Given the description of an element on the screen output the (x, y) to click on. 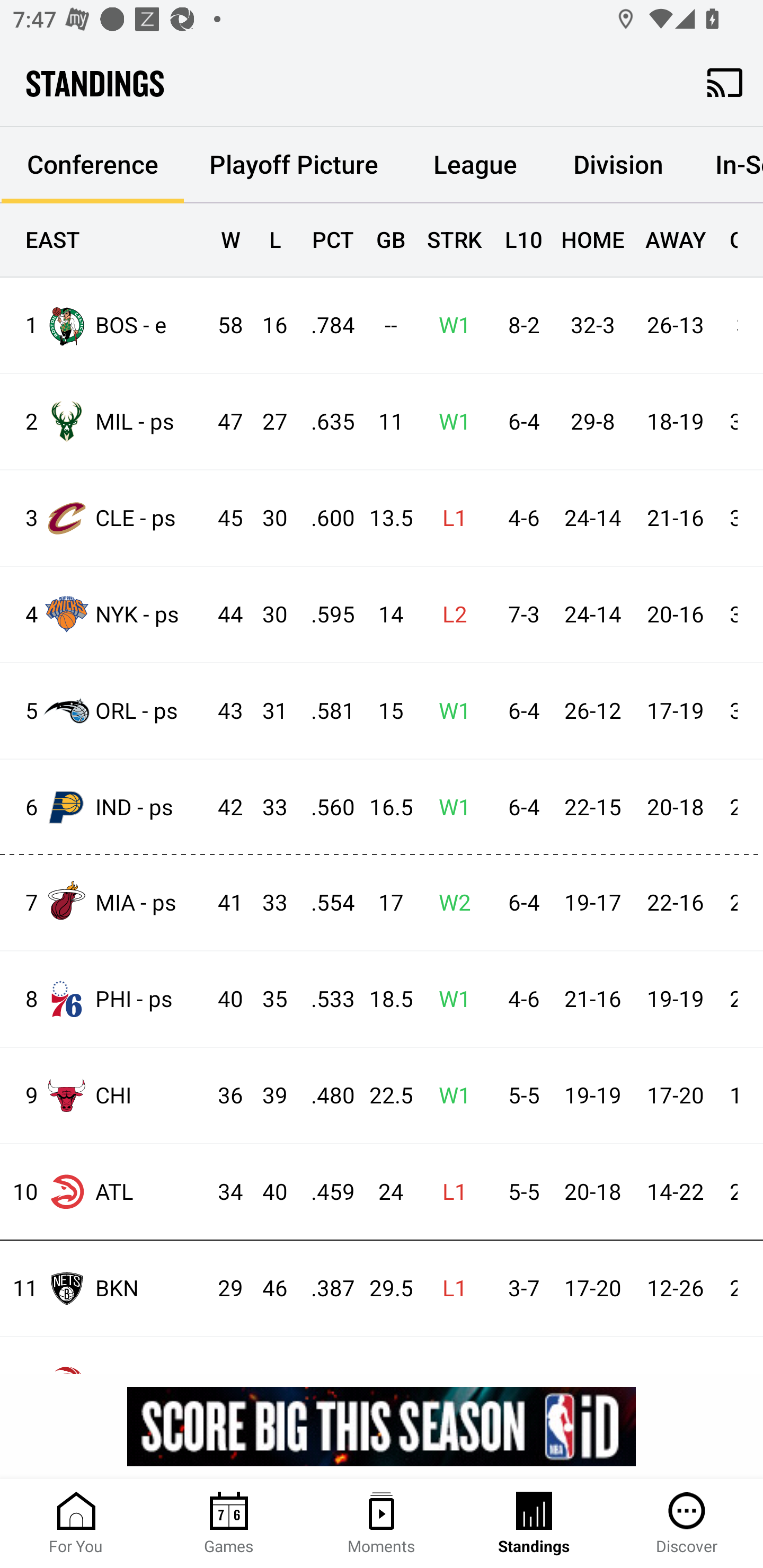
Cast. Disconnected (724, 82)
Playoff Picture (293, 165)
League (475, 165)
Division (618, 165)
1 BOS - e (104, 325)
16 (265, 324)
.784 (323, 324)
-- (382, 324)
W1 (449, 324)
8-2 (518, 324)
32-3 (592, 324)
26-13 (675, 324)
2 MIL - ps (104, 421)
27 (265, 422)
.635 (323, 422)
11 (382, 422)
W1 (449, 422)
6-4 (518, 422)
29-8 (592, 422)
18-19 (675, 422)
3 CLE - ps (104, 518)
30 (265, 517)
.600 (323, 517)
13.5 (382, 517)
L1 (449, 517)
4-6 (518, 517)
24-14 (592, 517)
21-16 (675, 517)
4 NYK - ps (104, 613)
30 (265, 615)
.595 (323, 615)
14 (382, 615)
L2 (449, 615)
7-3 (518, 615)
24-14 (592, 615)
20-16 (675, 615)
5 ORL - ps (104, 710)
31 (265, 710)
.581 (323, 710)
15 (382, 710)
W1 (449, 710)
6-4 (518, 710)
26-12 (592, 710)
17-19 (675, 710)
6 IND - ps (104, 806)
33 (265, 807)
.560 (323, 807)
16.5 (382, 807)
W1 (449, 807)
6-4 (518, 807)
22-15 (592, 807)
20-18 (675, 807)
7 MIA - ps (104, 902)
33 (265, 902)
.554 (323, 902)
17 (382, 902)
W2 (449, 902)
6-4 (518, 902)
19-17 (592, 902)
22-16 (675, 902)
8 PHI - ps (104, 999)
35 (265, 999)
.533 (323, 999)
18.5 (382, 999)
W1 (449, 999)
4-6 (518, 999)
21-16 (592, 999)
19-19 (675, 999)
9 CHI (104, 1095)
39 (265, 1095)
.480 (323, 1095)
22.5 (382, 1095)
W1 (449, 1095)
5-5 (518, 1095)
19-19 (592, 1095)
17-20 (675, 1095)
10 ATL (104, 1192)
40 (265, 1192)
.459 (323, 1192)
24 (382, 1192)
L1 (449, 1192)
5-5 (518, 1192)
20-18 (592, 1192)
14-22 (675, 1192)
11 BKN (104, 1287)
46 (265, 1288)
.387 (323, 1288)
29.5 (382, 1288)
L1 (449, 1288)
3-7 (518, 1288)
17-20 (592, 1288)
12-26 (675, 1288)
g5nqqygr7owph (381, 1426)
For You (76, 1523)
Games (228, 1523)
Moments (381, 1523)
Discover (686, 1523)
